Given the description of an element on the screen output the (x, y) to click on. 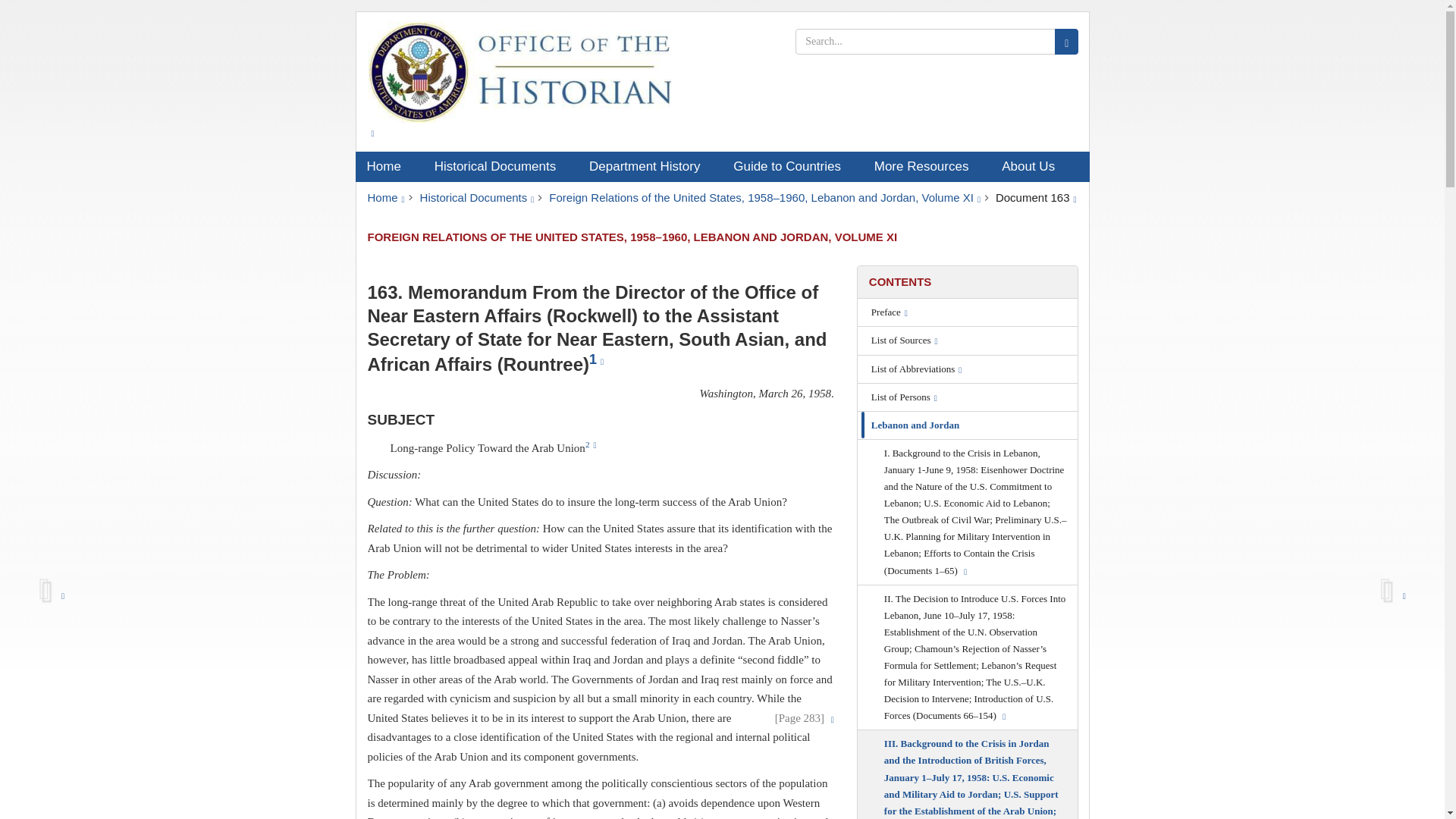
More Resources (926, 166)
Home (385, 196)
About Us (1033, 166)
Historical Documents (477, 196)
Document 163 (1036, 196)
Guide to Countries (792, 166)
Department History (650, 166)
Home (388, 166)
Historical Documents (500, 166)
